Given the description of an element on the screen output the (x, y) to click on. 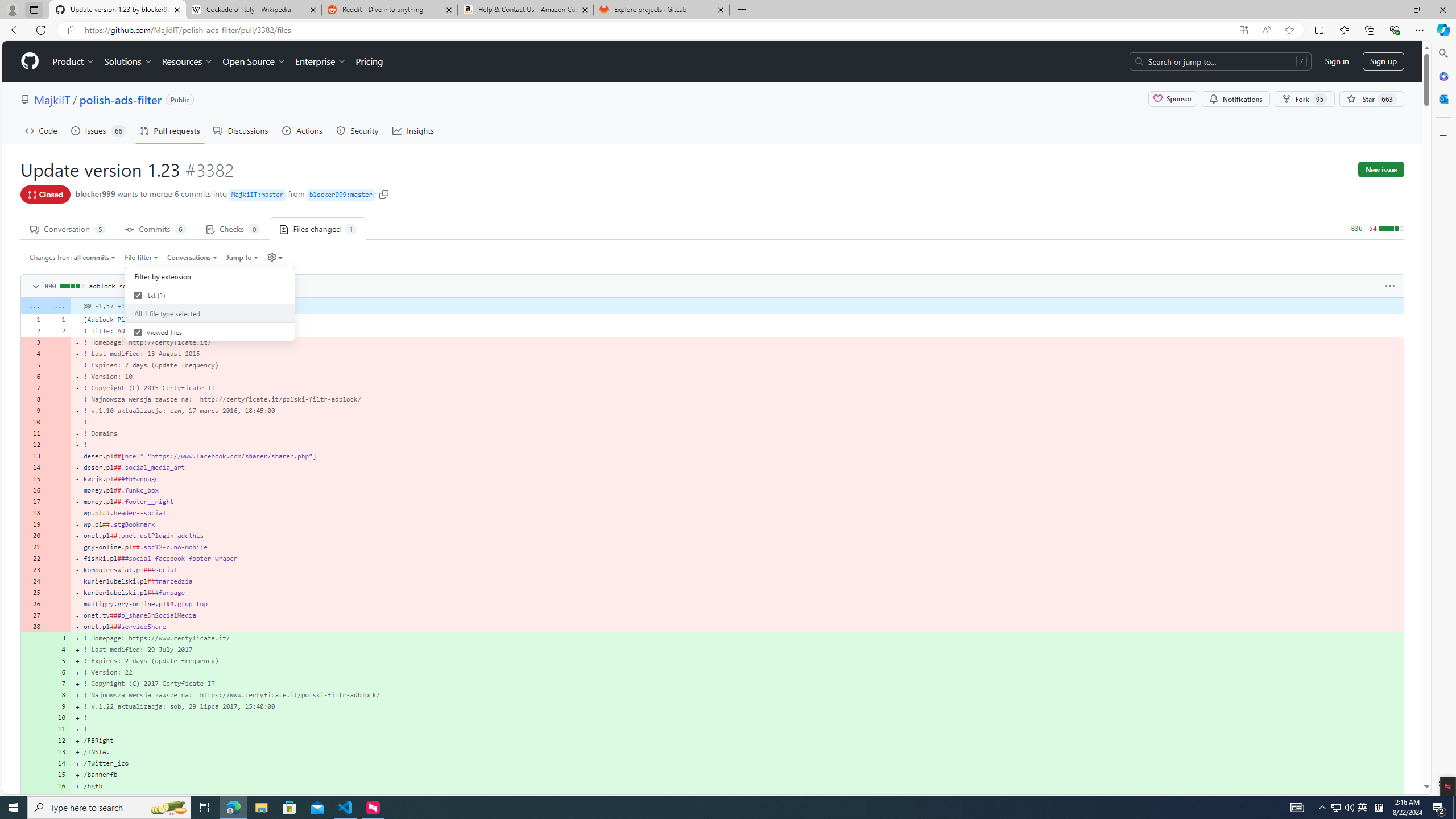
Product (74, 60)
All 1 file type selected (210, 313)
Show options (1390, 285)
- deser.pl##.social_media_art (737, 467)
18 (33, 512)
Insights (413, 130)
Diff settings (271, 256)
New issue (1380, 169)
1 (58, 319)
Discussions (240, 130)
- gry-online.pl##.soc12-c.no-mobile (737, 546)
